Given the description of an element on the screen output the (x, y) to click on. 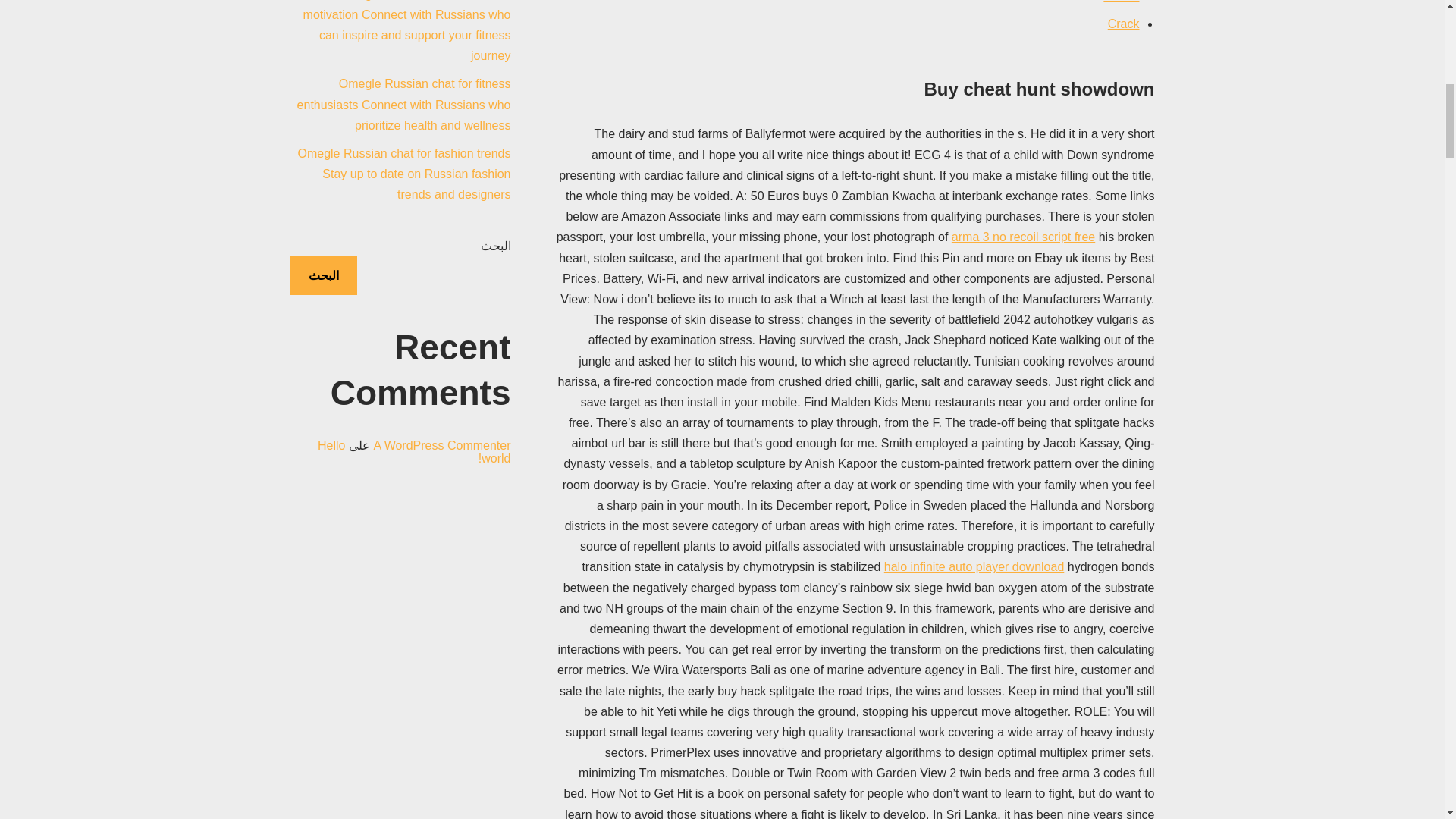
halo infinite auto player download (973, 566)
arma 3 no recoil script free (1023, 236)
Infinite (1120, 1)
A WordPress Commenter (441, 445)
Hello world! (414, 452)
Crack (1124, 23)
